Given the description of an element on the screen output the (x, y) to click on. 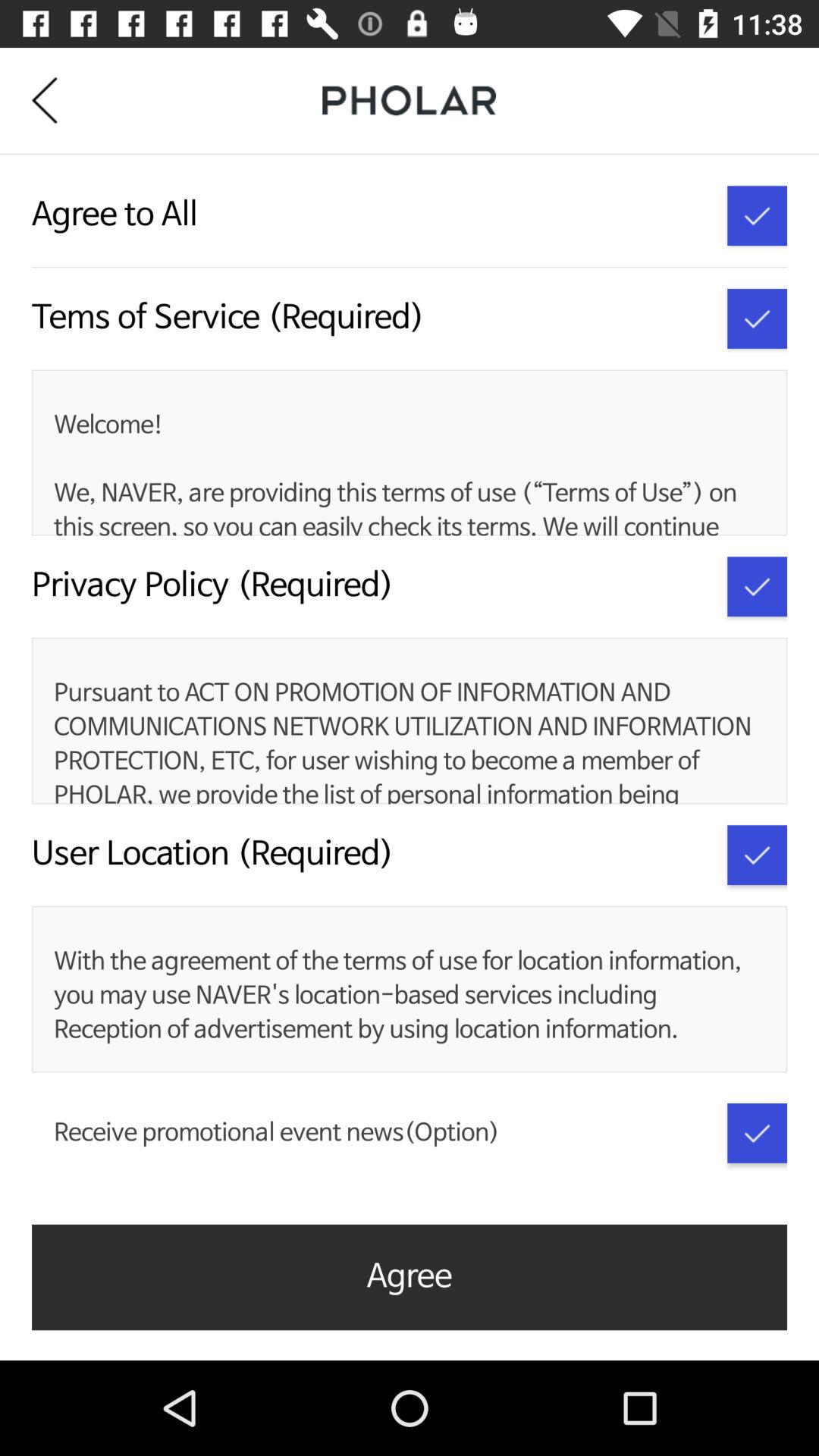
previous page (55, 100)
